Given the description of an element on the screen output the (x, y) to click on. 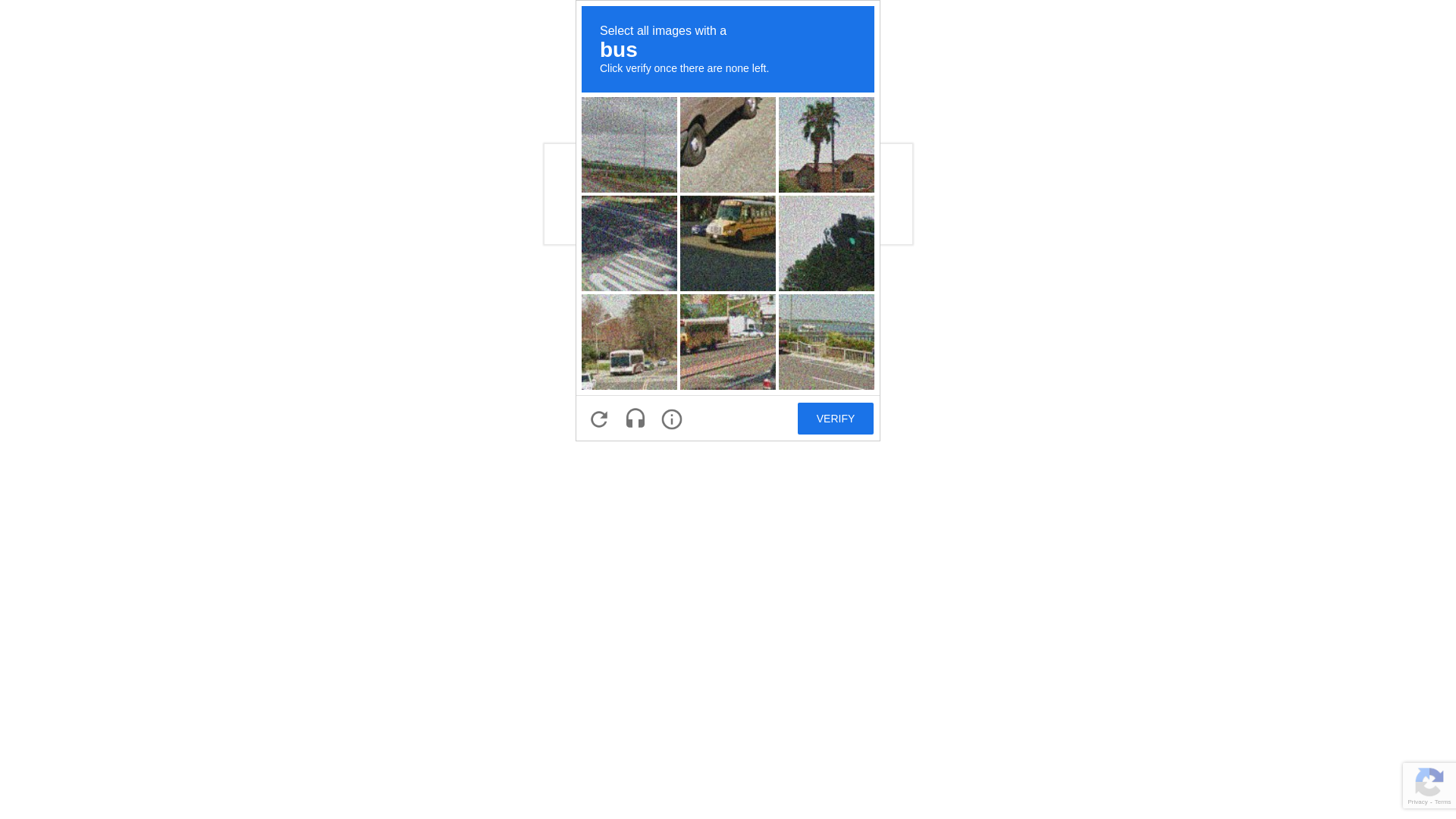
recaptcha challenge expires in two minutes Element type: hover (727, 220)
